Given the description of an element on the screen output the (x, y) to click on. 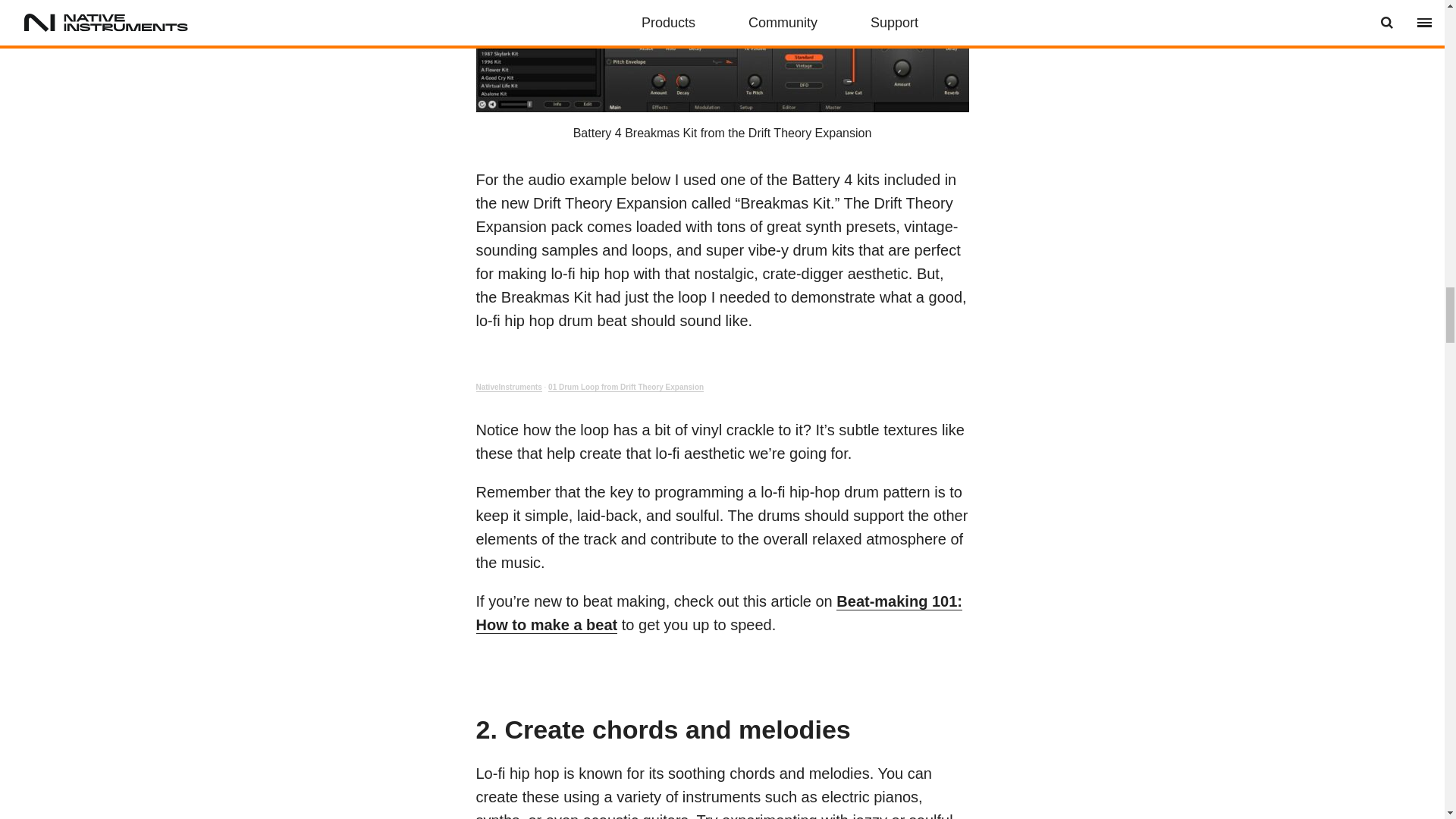
NativeInstruments (508, 387)
01 Drum Loop from Drift Theory Expansion (625, 387)
